Given the description of an element on the screen output the (x, y) to click on. 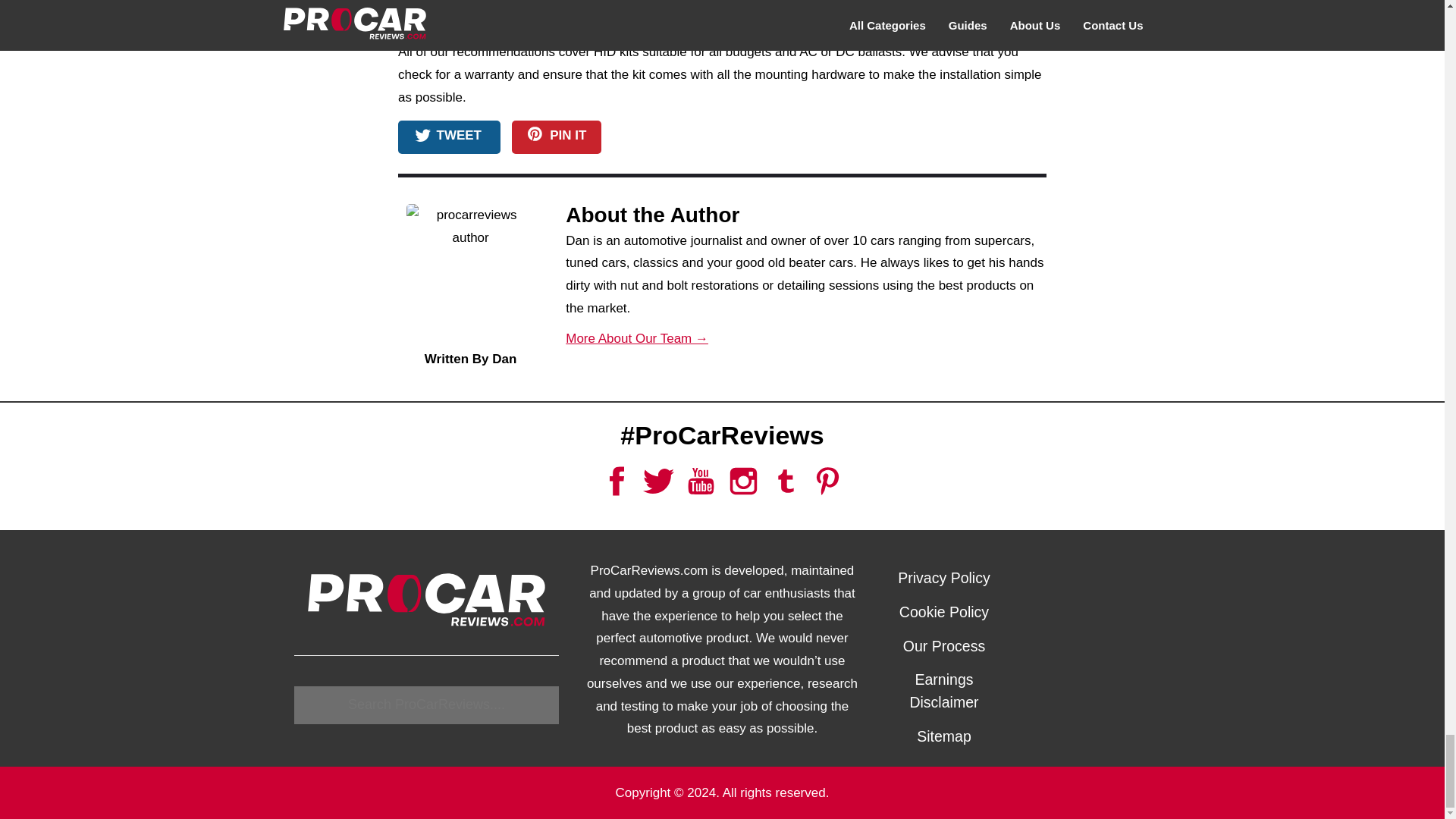
Dan at ProCarReviews (470, 275)
Search (426, 704)
PIN IT (557, 136)
TWEET (448, 136)
